Given the description of an element on the screen output the (x, y) to click on. 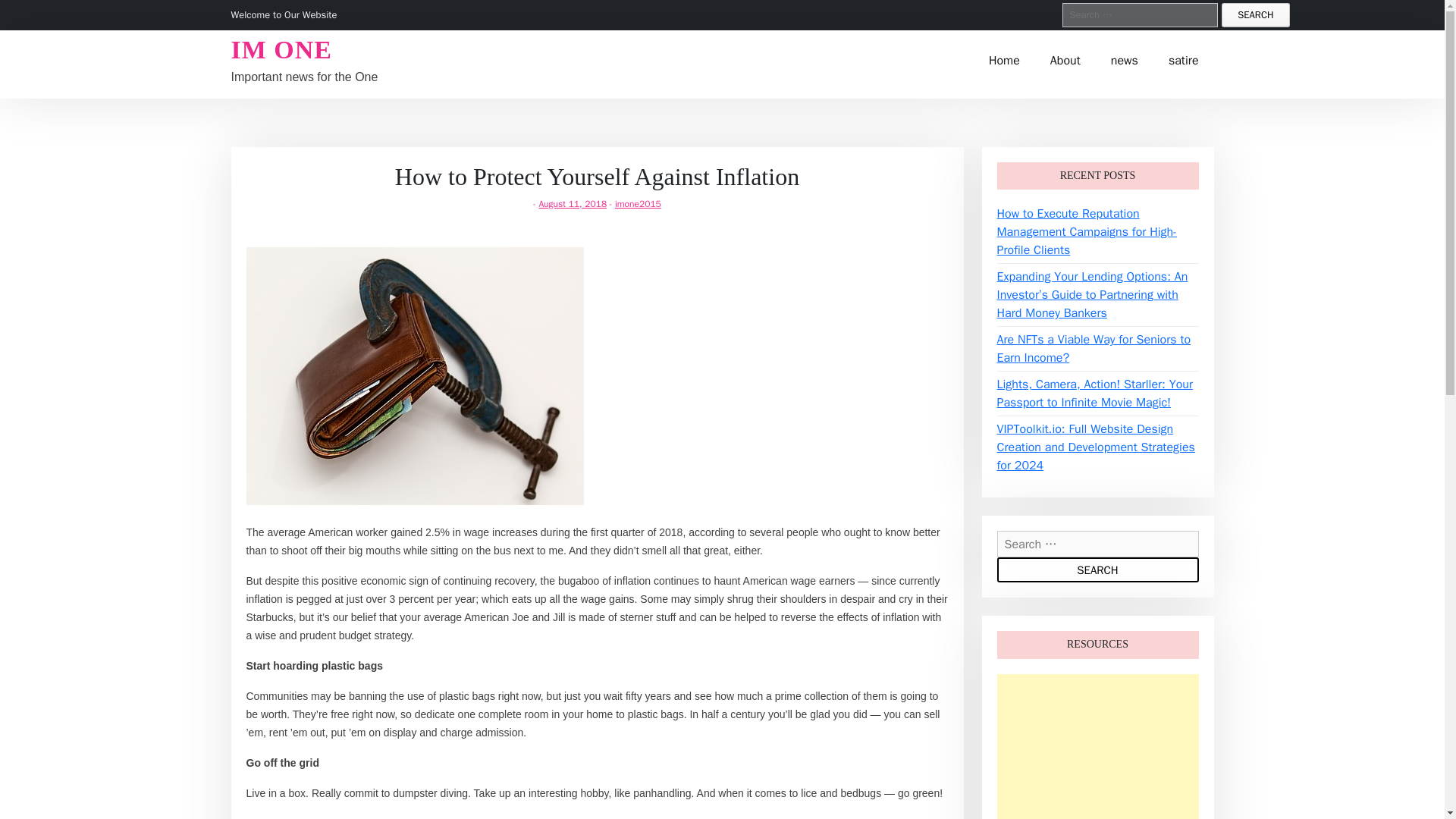
Search (1096, 569)
Search (1096, 569)
Search (1096, 569)
IM ONE (280, 49)
Search (1254, 15)
imone2015 (637, 203)
Search (1254, 15)
Search (1254, 15)
August 11, 2018 (572, 203)
About (1065, 59)
satire (1183, 59)
Are NFTs a Viable Way for Seniors to Earn Income? (1093, 348)
news (1124, 59)
